Given the description of an element on the screen output the (x, y) to click on. 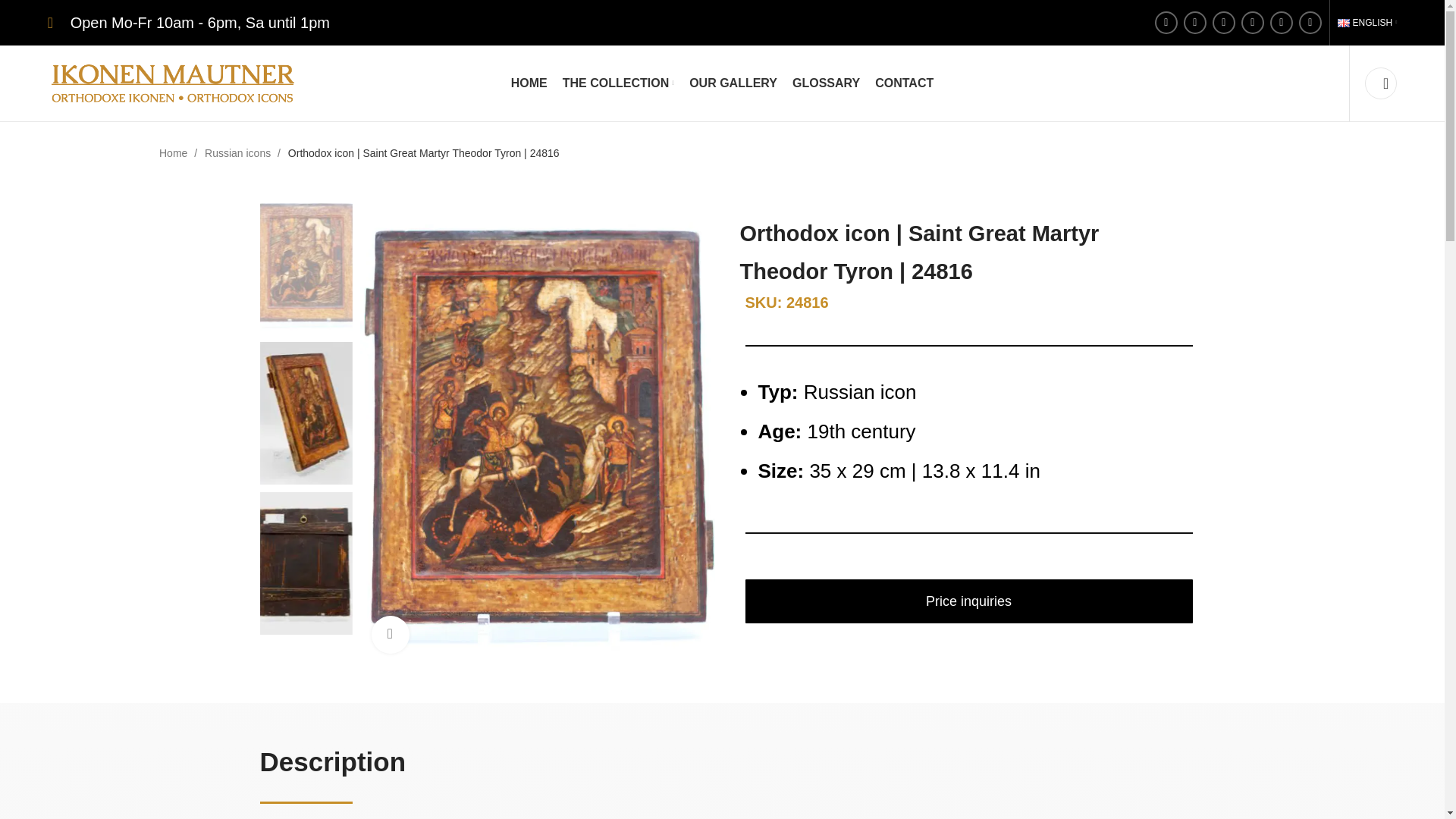
Search (1380, 82)
HOME (529, 82)
ENGLISH (1367, 22)
THE COLLECTION (618, 82)
